Given the description of an element on the screen output the (x, y) to click on. 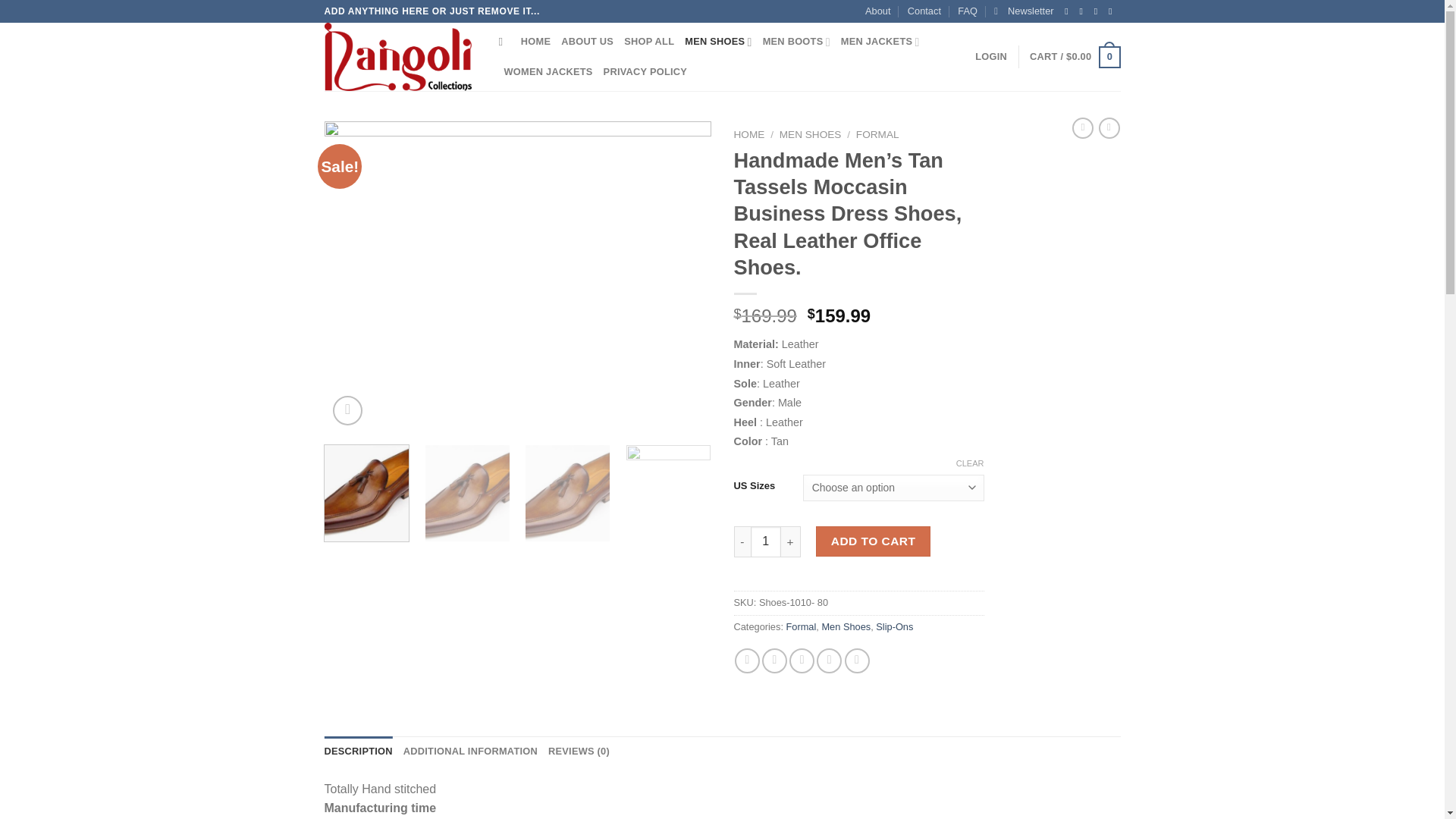
Contact (923, 11)
HOME (535, 41)
1 (765, 541)
28 (517, 264)
ABOUT US (586, 41)
Cart (1074, 57)
About (876, 11)
Rangoli Collections (400, 56)
PRIVACY POLICY (645, 71)
MEN SHOES (717, 41)
Qty (765, 541)
SHOP ALL (649, 41)
WOMEN JACKETS (547, 71)
MEN JACKETS (880, 41)
Sign up for Newsletter (1023, 11)
